Given the description of an element on the screen output the (x, y) to click on. 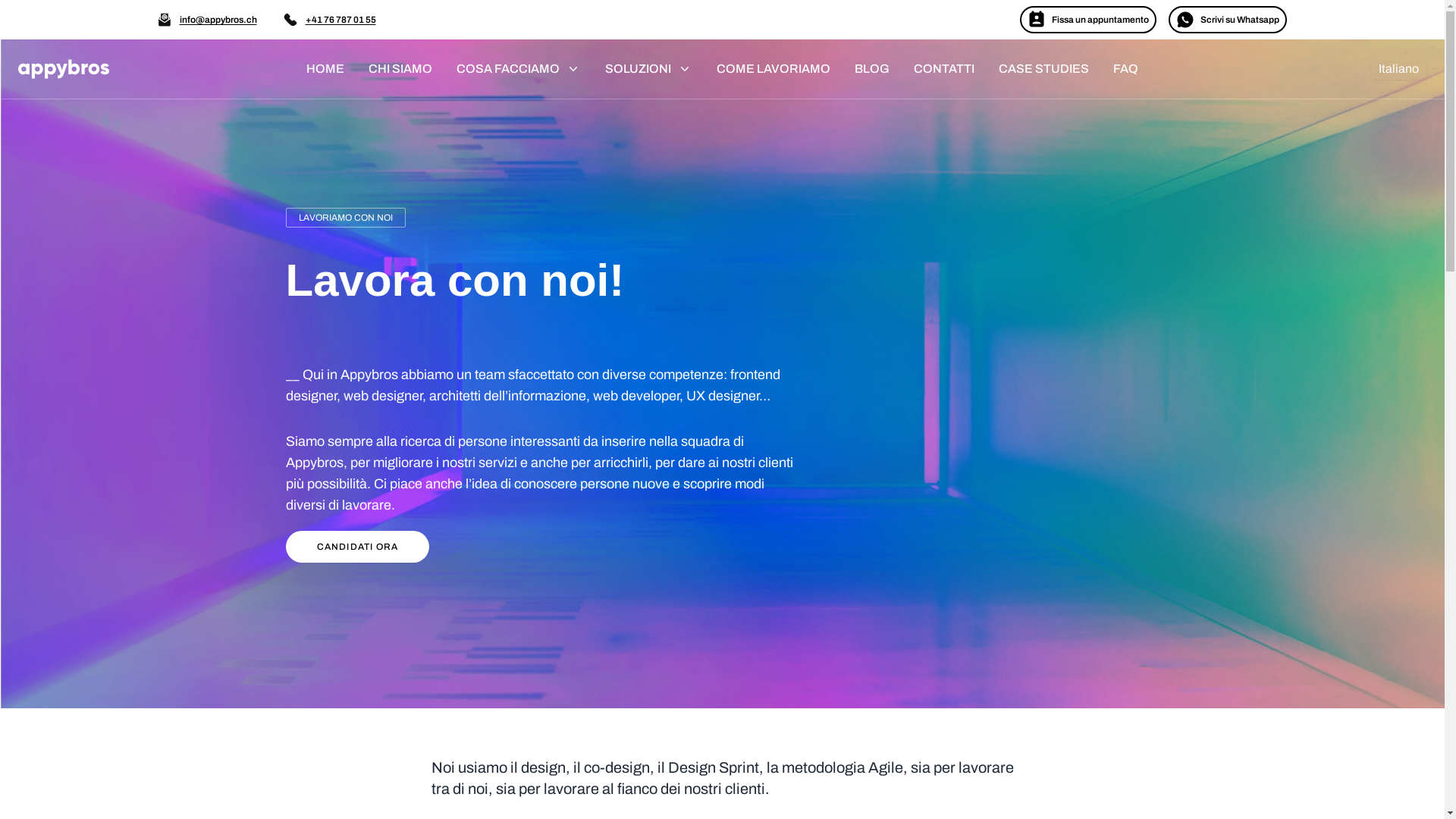
Fissa un appuntamento Element type: text (1087, 19)
+41 76 787 01 55 Element type: text (339, 19)
CANDIDATI ORA Element type: text (357, 546)
COME LAVORIAMO Element type: text (773, 68)
COSA FACCIAMO Element type: text (518, 68)
Workflow Element type: text (63, 68)
CONTATTI Element type: text (943, 68)
Scrivi su Whatsapp Element type: text (1226, 19)
SOLUZIONI Element type: text (648, 68)
FAQ Element type: text (1125, 68)
info@appybros.ch Element type: text (217, 19)
HOME Element type: text (325, 68)
CASE STUDIES Element type: text (1043, 68)
BLOG Element type: text (871, 68)
CHI SIAMO Element type: text (400, 68)
